Given the description of an element on the screen output the (x, y) to click on. 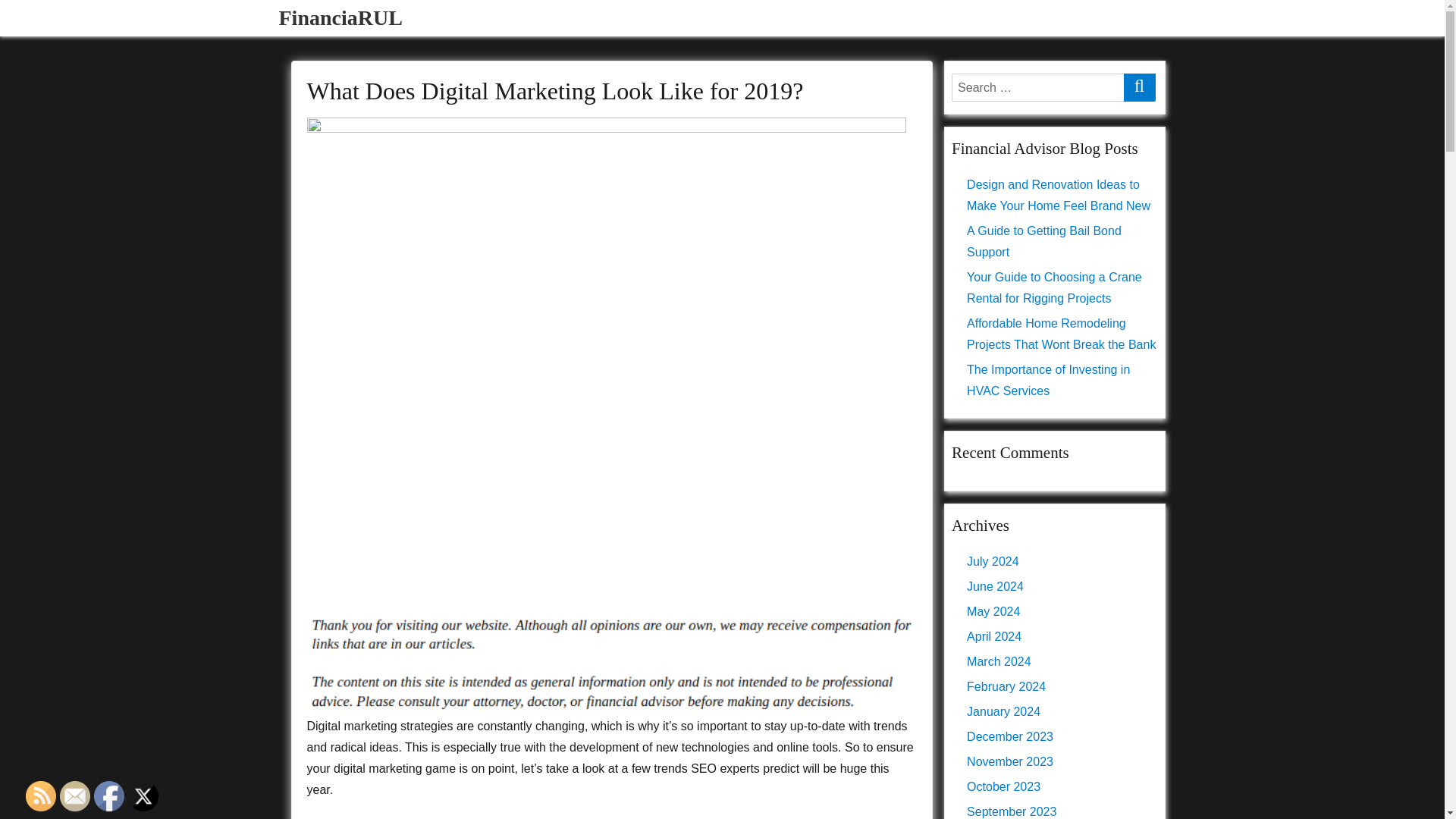
November 2023 (1009, 761)
February 2024 (1005, 686)
October 2023 (1003, 786)
Twitter (143, 796)
Follow by Email (74, 796)
FinanciaRUL (341, 17)
Facebook (108, 796)
March 2024 (998, 661)
The Importance of Investing in HVAC Services (1047, 380)
September 2023 (1011, 811)
April 2024 (994, 635)
June 2024 (994, 585)
May 2024 (993, 611)
RSS (41, 796)
Design and Renovation Ideas to Make Your Home Feel Brand New (1058, 195)
